Given the description of an element on the screen output the (x, y) to click on. 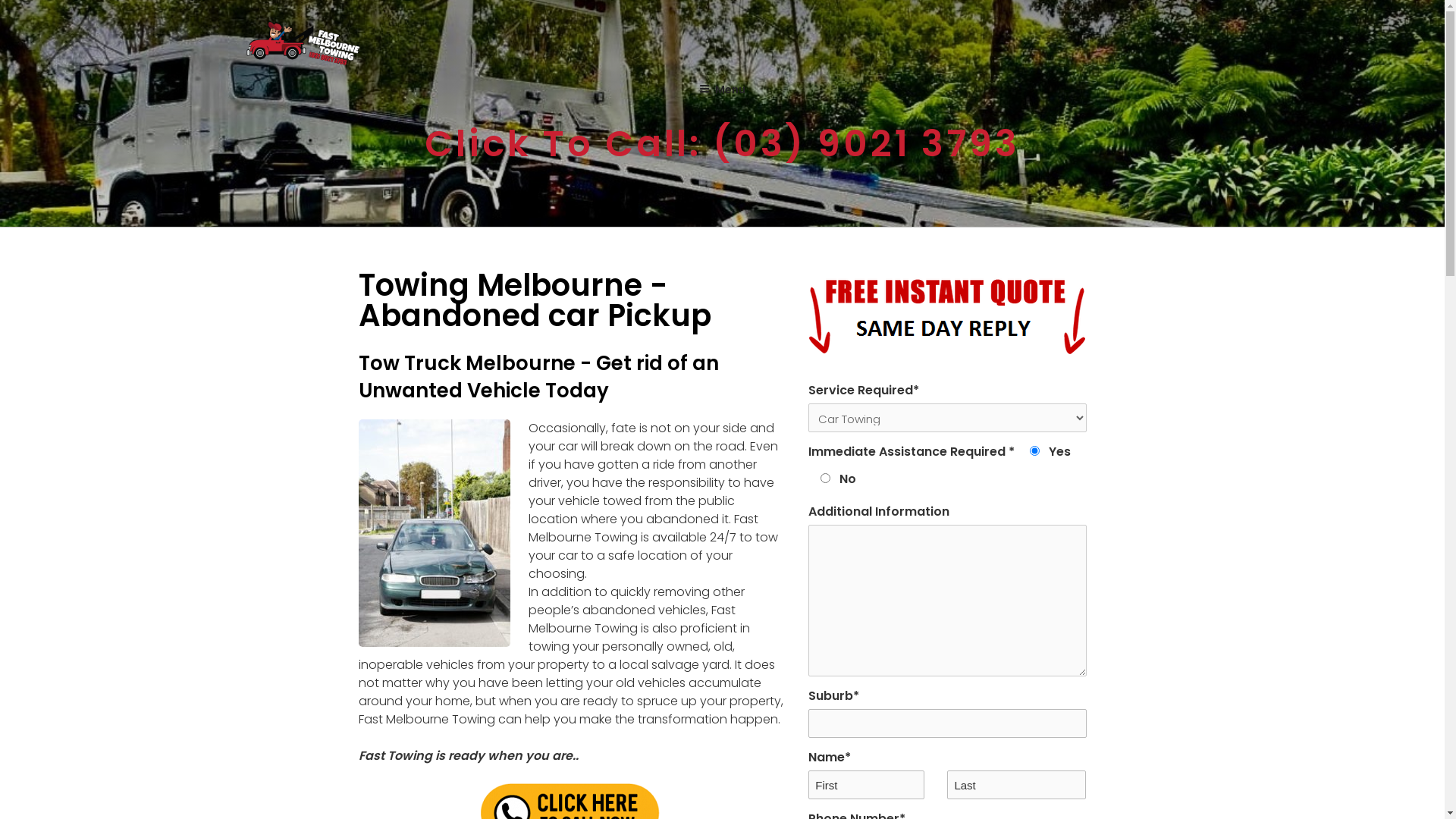
Click To Call: (03) 9021 3793 Element type: text (721, 143)
Menu Element type: text (721, 89)
Instant free quote Element type: hover (947, 311)
Skip to content Element type: text (0, 0)
